Given the description of an element on the screen output the (x, y) to click on. 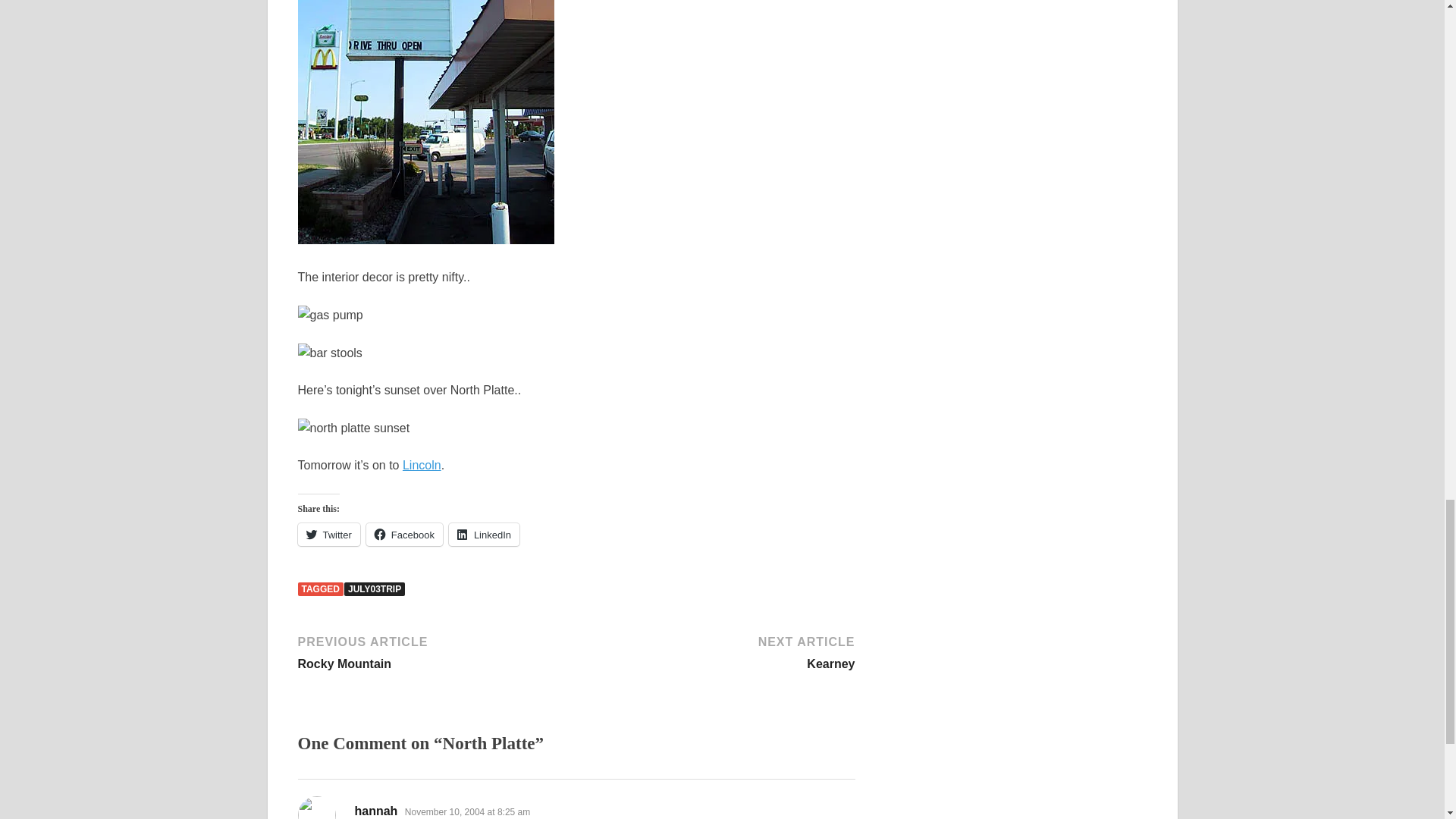
Click to share on Facebook (404, 534)
JULY03TRIP (434, 651)
Twitter (373, 589)
LinkedIn (328, 534)
Click to share on LinkedIn (717, 651)
Facebook (483, 534)
November 10, 2004 at 8:25 am (483, 534)
Lincoln (404, 534)
